Given the description of an element on the screen output the (x, y) to click on. 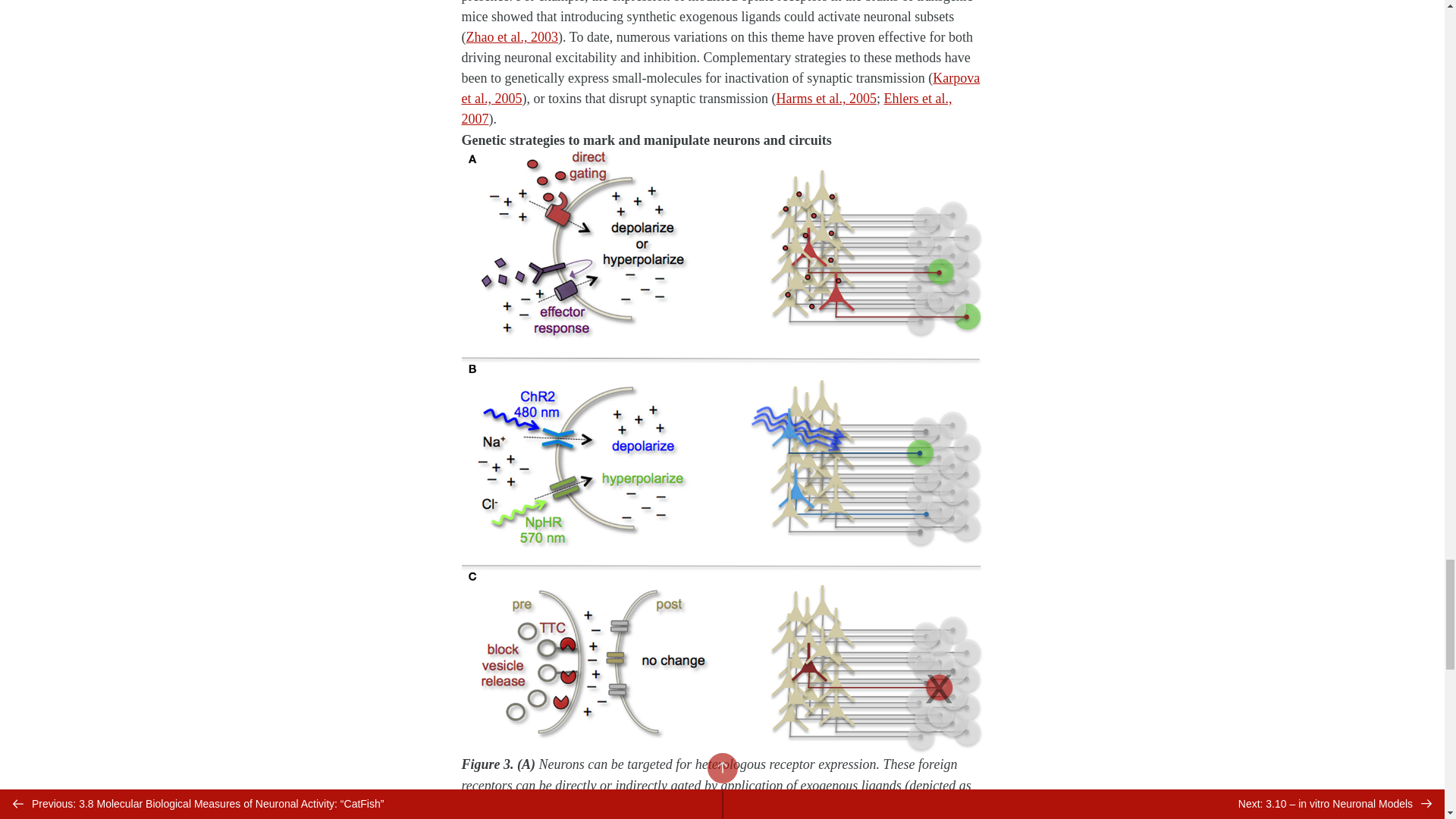
Ehlers et al., 2007 (706, 108)
Zhao et al., 2003 (511, 37)
Karpova et al., 2005 (720, 88)
Harms et al., 2005 (826, 98)
